Given the description of an element on the screen output the (x, y) to click on. 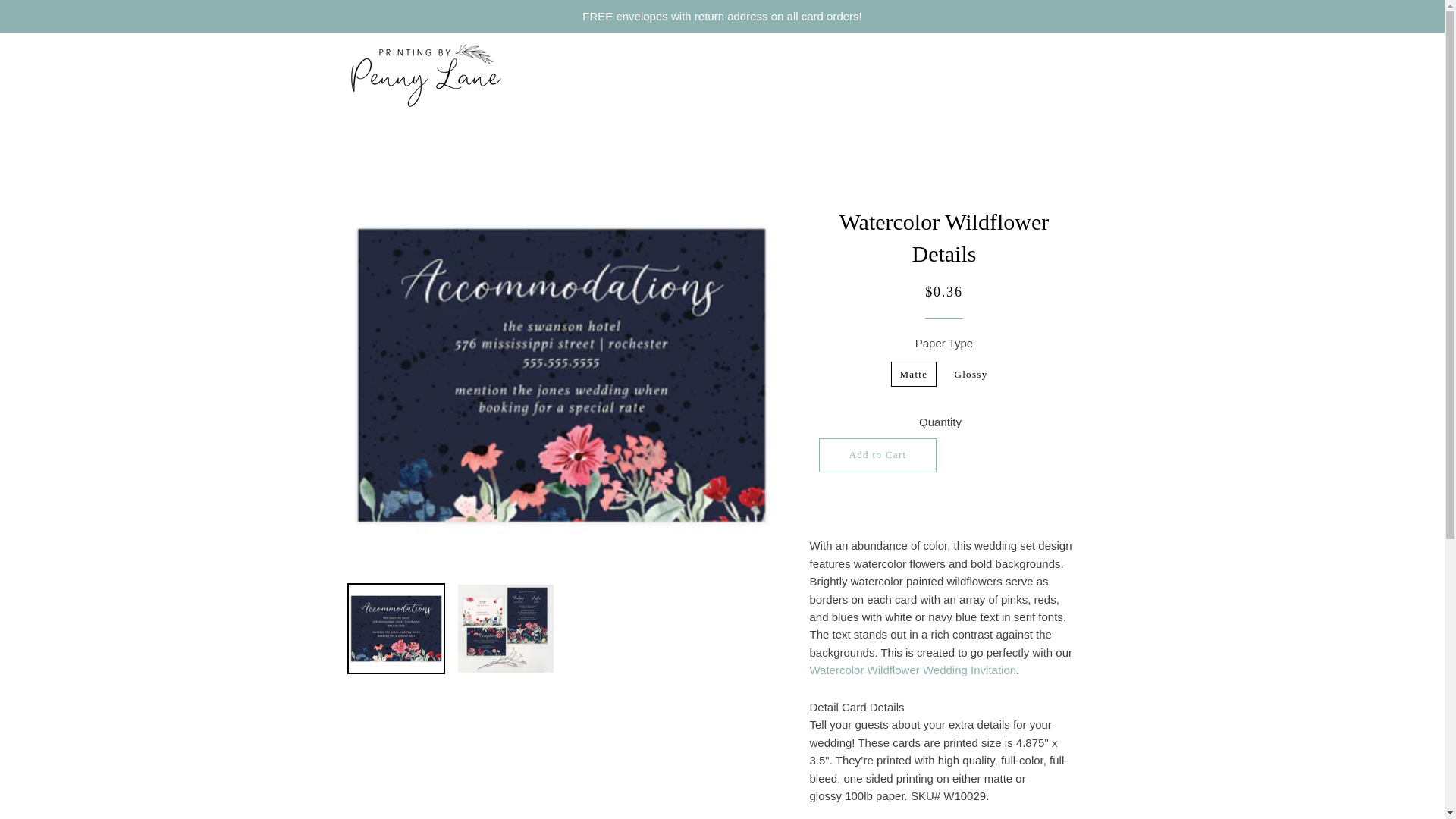
Watercolor Wildflower Wedding Invitation (912, 669)
